Given the description of an element on the screen output the (x, y) to click on. 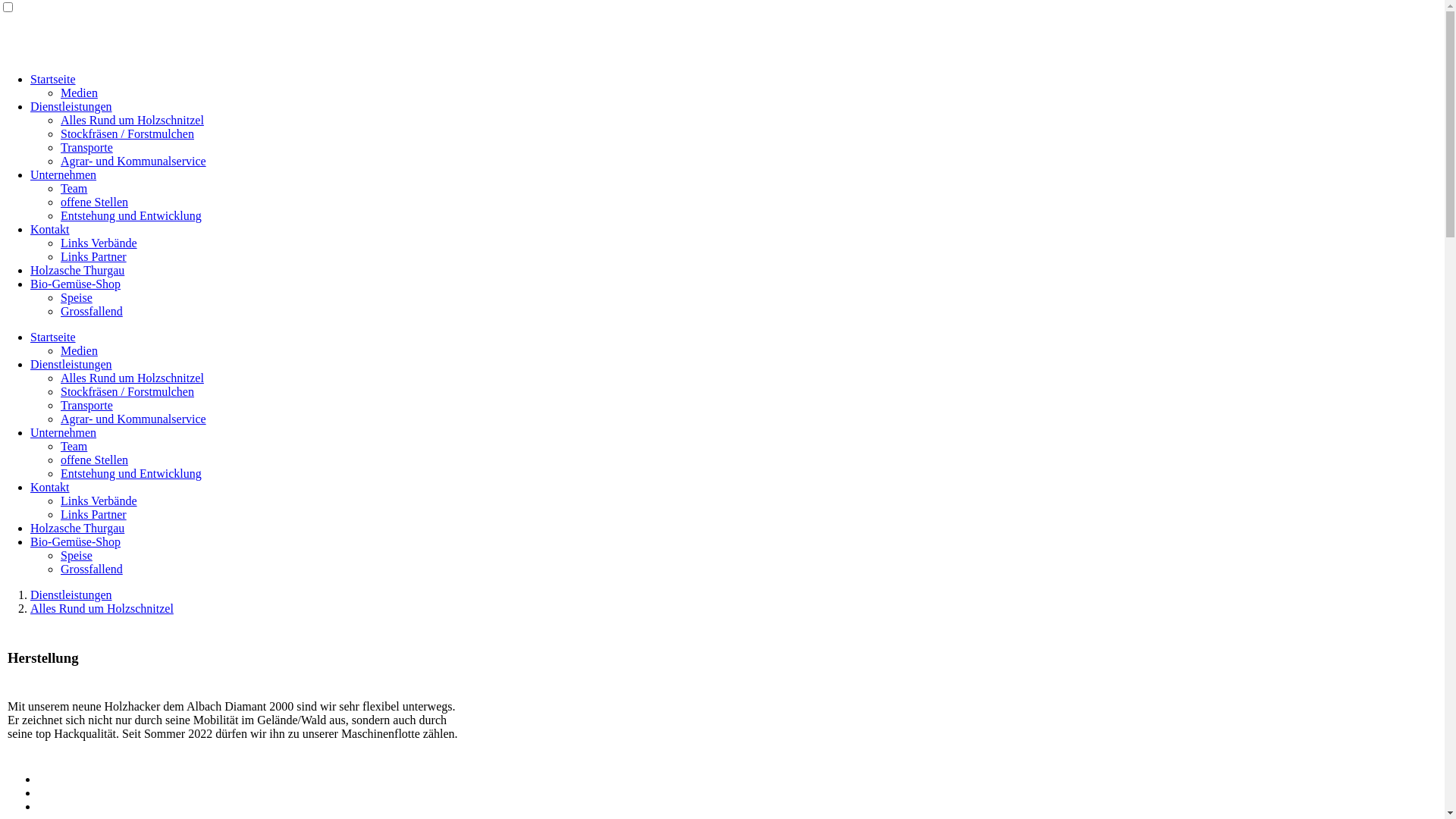
Transporte Element type: text (86, 147)
Transporte Element type: text (86, 404)
Alles Rund um Holzschnitzel Element type: text (131, 377)
Speise Element type: text (76, 555)
Dienstleistungen Element type: text (71, 106)
Dienstleistungen Element type: text (71, 363)
Unternehmen Element type: text (63, 432)
Grossfallend Element type: text (91, 568)
Medien Element type: text (78, 92)
Startseite Element type: text (52, 336)
Links Partner Element type: text (93, 256)
Holzasche Thurgau Element type: text (77, 269)
Holzasche Thurgau Element type: text (77, 527)
Entstehung und Entwicklung Element type: text (130, 473)
Team Element type: text (73, 188)
Team Element type: text (73, 445)
Kontakt Element type: text (49, 486)
offene Stellen Element type: text (94, 201)
Alles Rund um Holzschnitzel Element type: text (101, 608)
offene Stellen Element type: text (94, 459)
Dienstleistungen Element type: text (71, 594)
Medien Element type: text (78, 350)
Entstehung und Entwicklung Element type: text (130, 215)
Links Partner Element type: text (93, 514)
Startseite Element type: text (52, 78)
Alles Rund um Holzschnitzel Element type: text (131, 119)
Agrar- und Kommunalservice Element type: text (133, 418)
Unternehmen Element type: text (63, 174)
Agrar- und Kommunalservice Element type: text (133, 160)
Grossfallend Element type: text (91, 310)
Speise Element type: text (76, 297)
Kontakt Element type: text (49, 228)
